Given the description of an element on the screen output the (x, y) to click on. 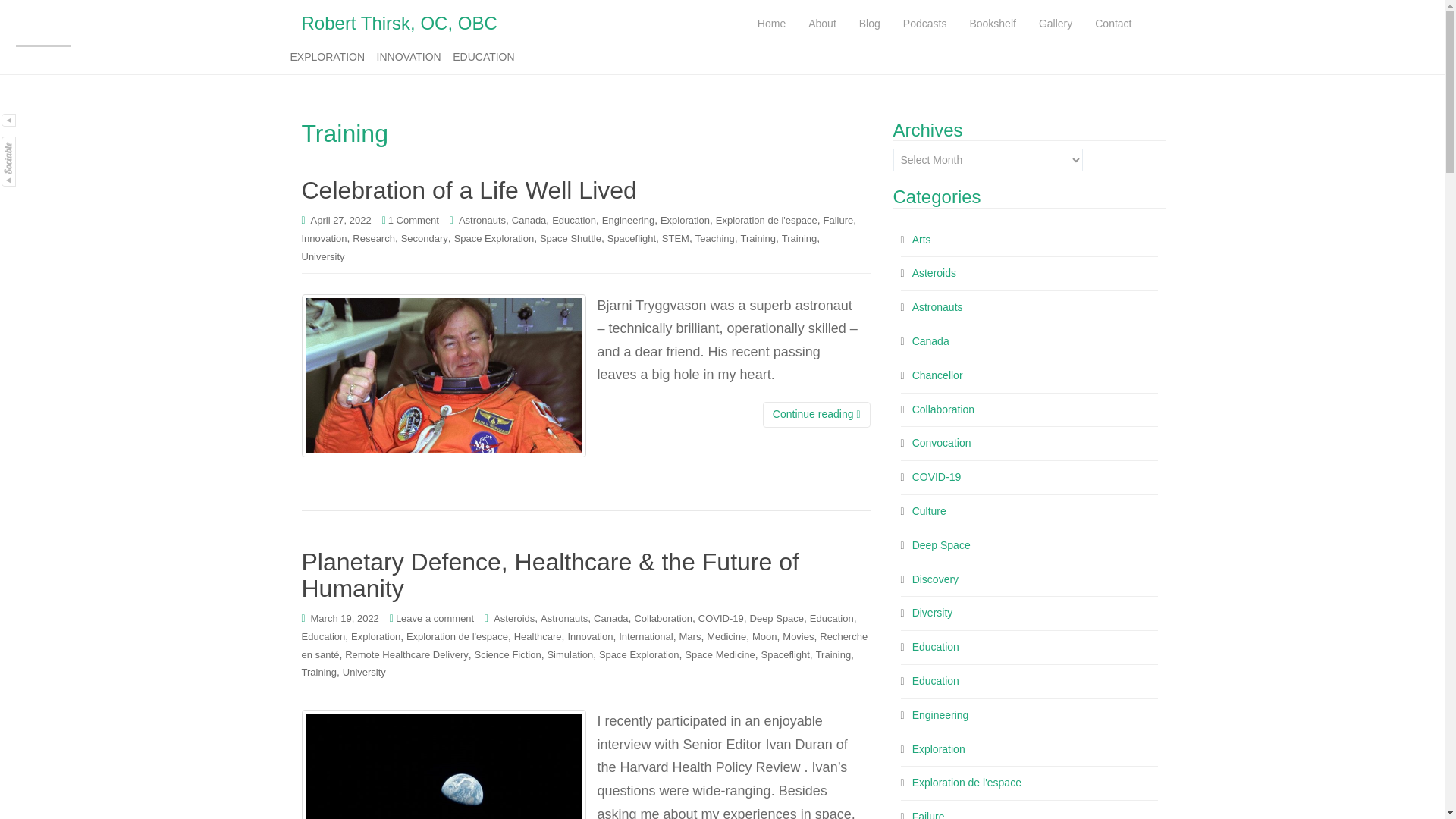
Leave a comment (435, 618)
Training (798, 238)
About (821, 24)
Contact (1112, 24)
Celebration of a Life Well Lived (469, 189)
Robert Thirsk, OC, OBC (398, 23)
Spaceflight (631, 238)
March 19, 2022 (344, 618)
Astronauts (481, 220)
Podcasts (924, 24)
Gallery (1055, 24)
Contact (1112, 24)
Continue reading (816, 414)
Training (758, 238)
Podcasts (924, 24)
